Given the description of an element on the screen output the (x, y) to click on. 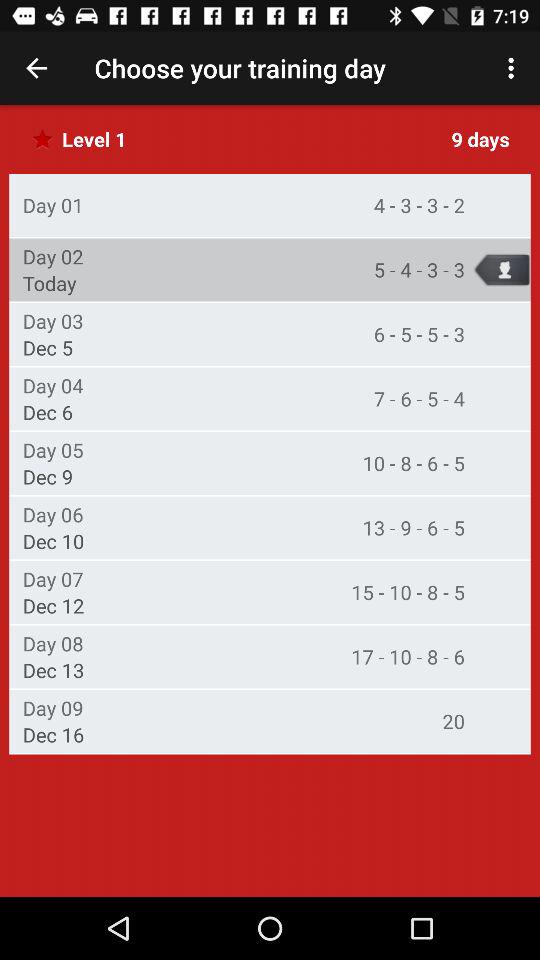
open the icon to the left of the 17 10 8 item (52, 643)
